Given the description of an element on the screen output the (x, y) to click on. 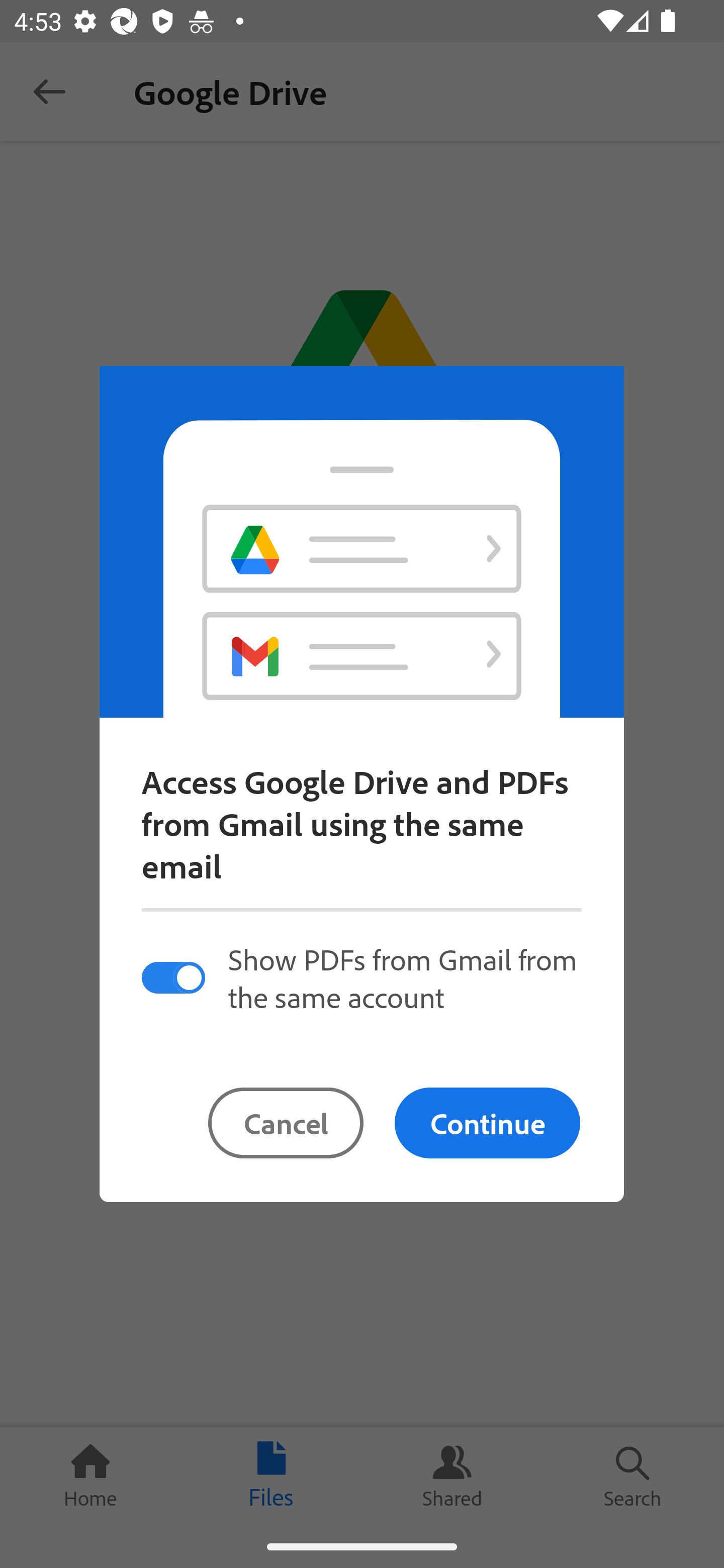
Show PDFs from Gmail from the same account (361, 977)
Cancel (285, 1123)
Continue (487, 1123)
